Given the description of an element on the screen output the (x, y) to click on. 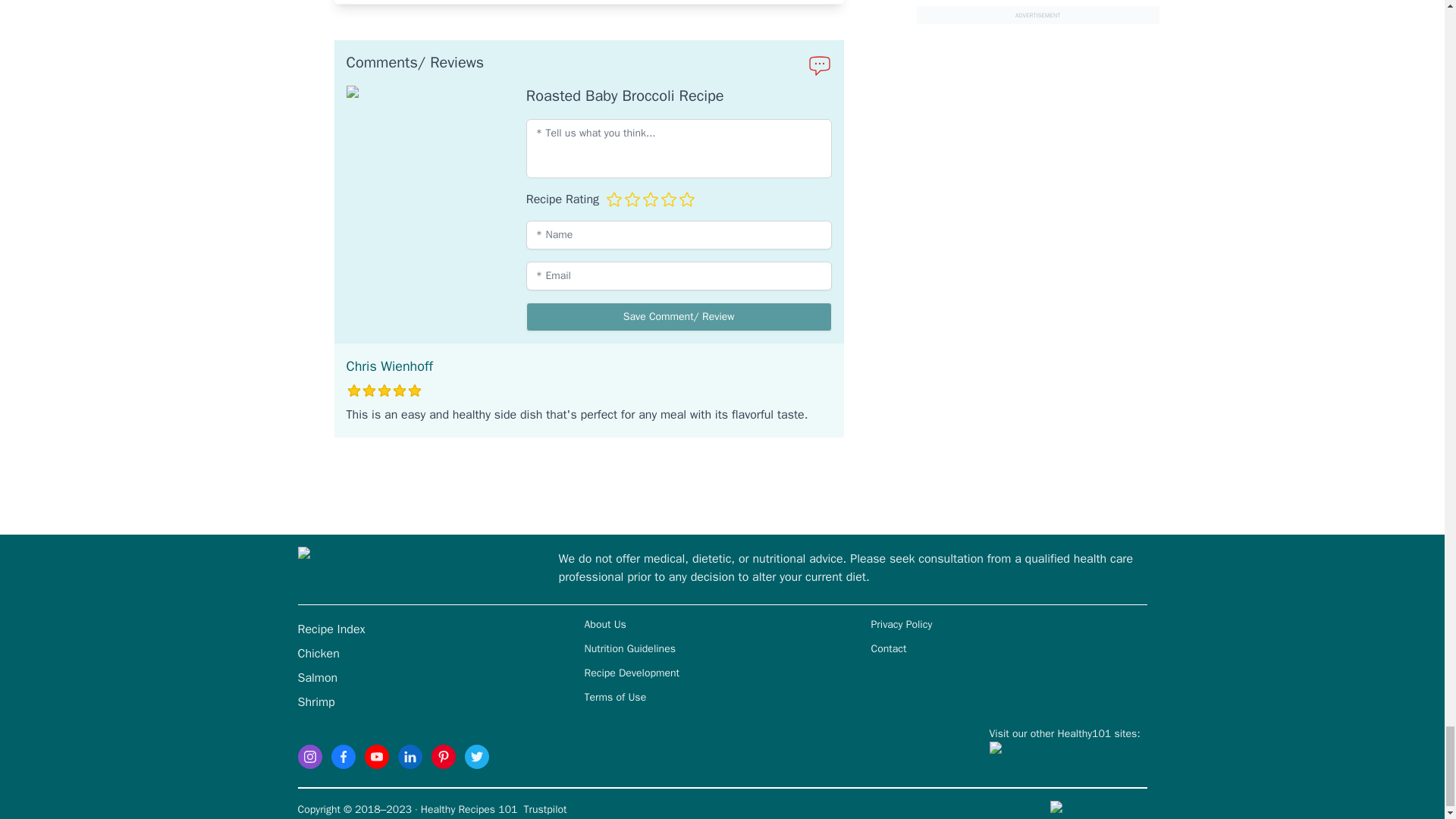
Shrimp (315, 702)
About Us (604, 623)
Nutrition Guidelines (629, 647)
Salmon (317, 677)
